Given the description of an element on the screen output the (x, y) to click on. 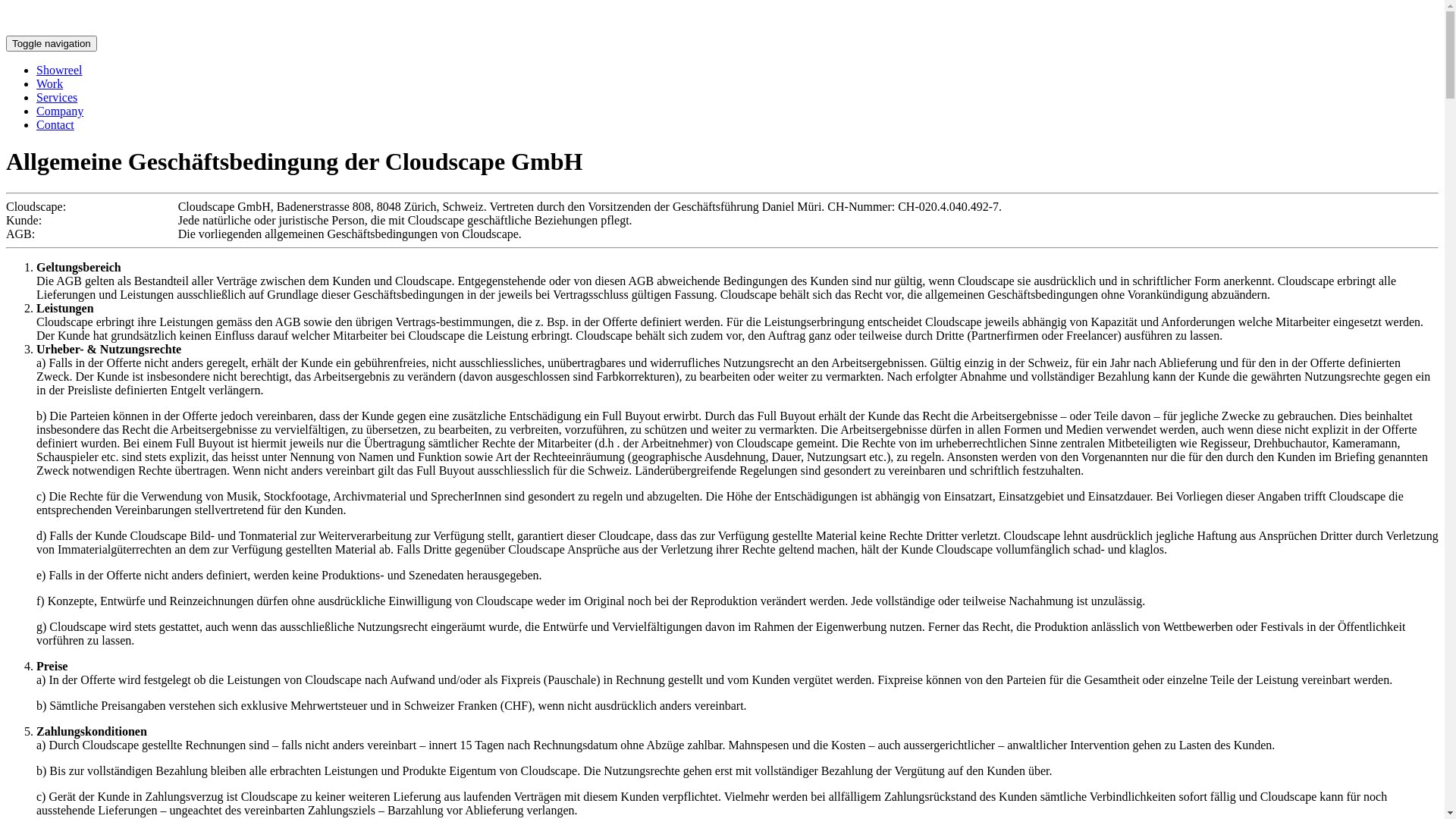
Contact Element type: text (55, 124)
Work Element type: text (49, 83)
Company Element type: text (59, 110)
Toggle navigation Element type: text (51, 43)
Showreel Element type: text (58, 69)
Services Element type: text (56, 97)
